Given the description of an element on the screen output the (x, y) to click on. 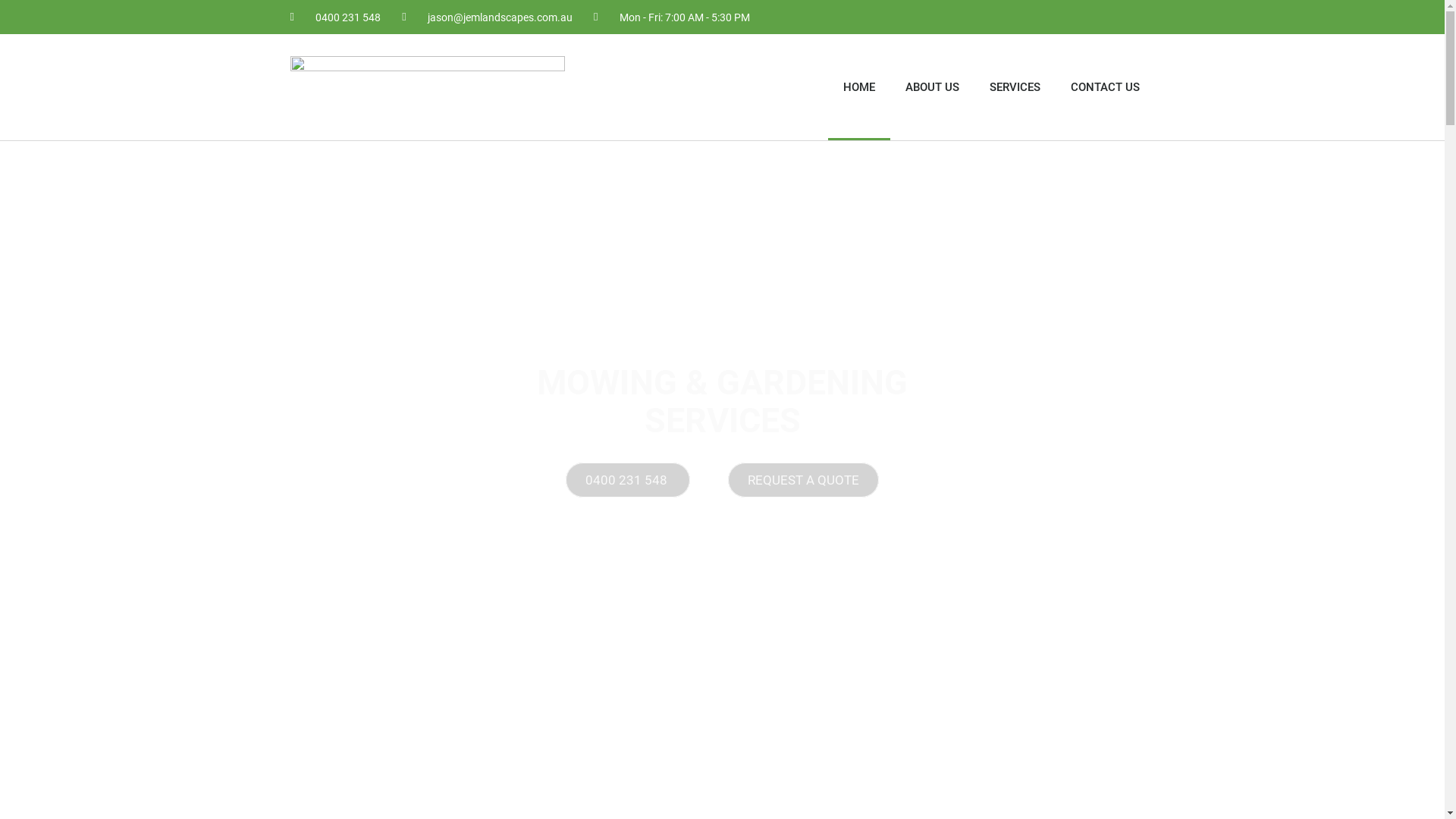
CONTACT US Element type: text (1104, 87)
REQUEST A QUOTE Element type: text (803, 479)
HOME Element type: text (859, 87)
jason@jemlandscapes.com.au Element type: text (486, 16)
SERVICES Element type: text (1013, 87)
ABOUT US Element type: text (932, 87)
0400 231 548 Element type: text (334, 16)
0400 231 548 Element type: text (627, 479)
